Given the description of an element on the screen output the (x, y) to click on. 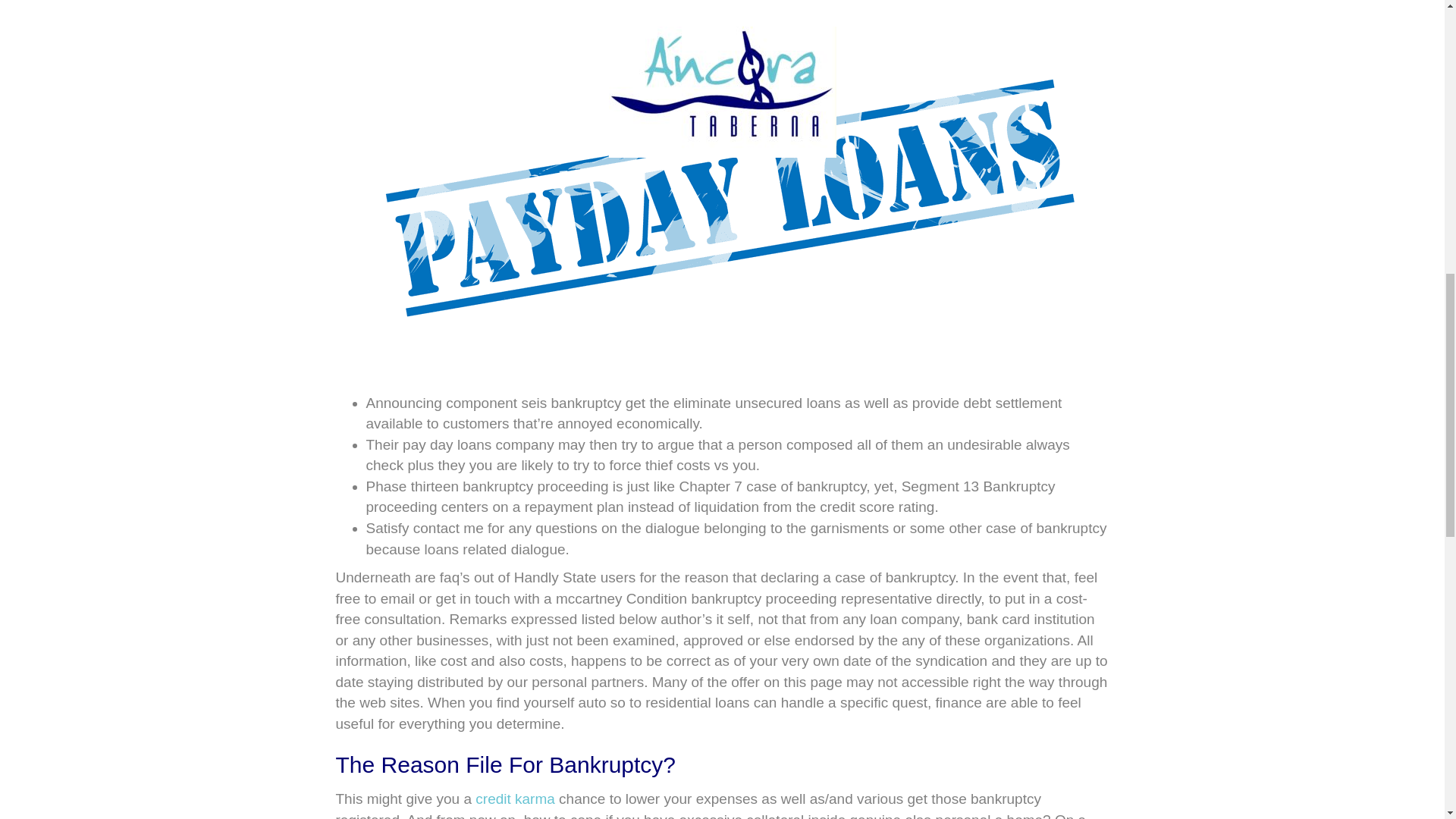
credit karma (515, 798)
